Given the description of an element on the screen output the (x, y) to click on. 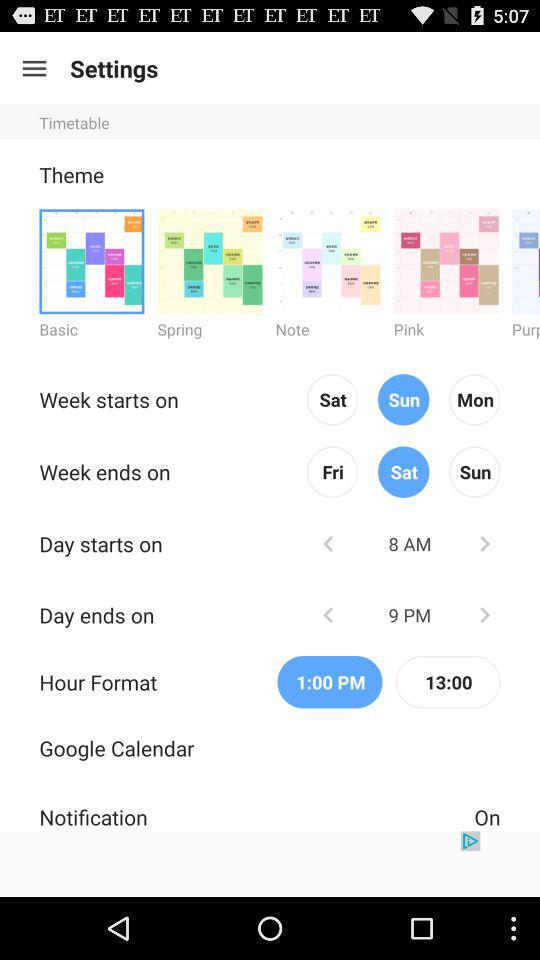
increase hour (484, 614)
